Given the description of an element on the screen output the (x, y) to click on. 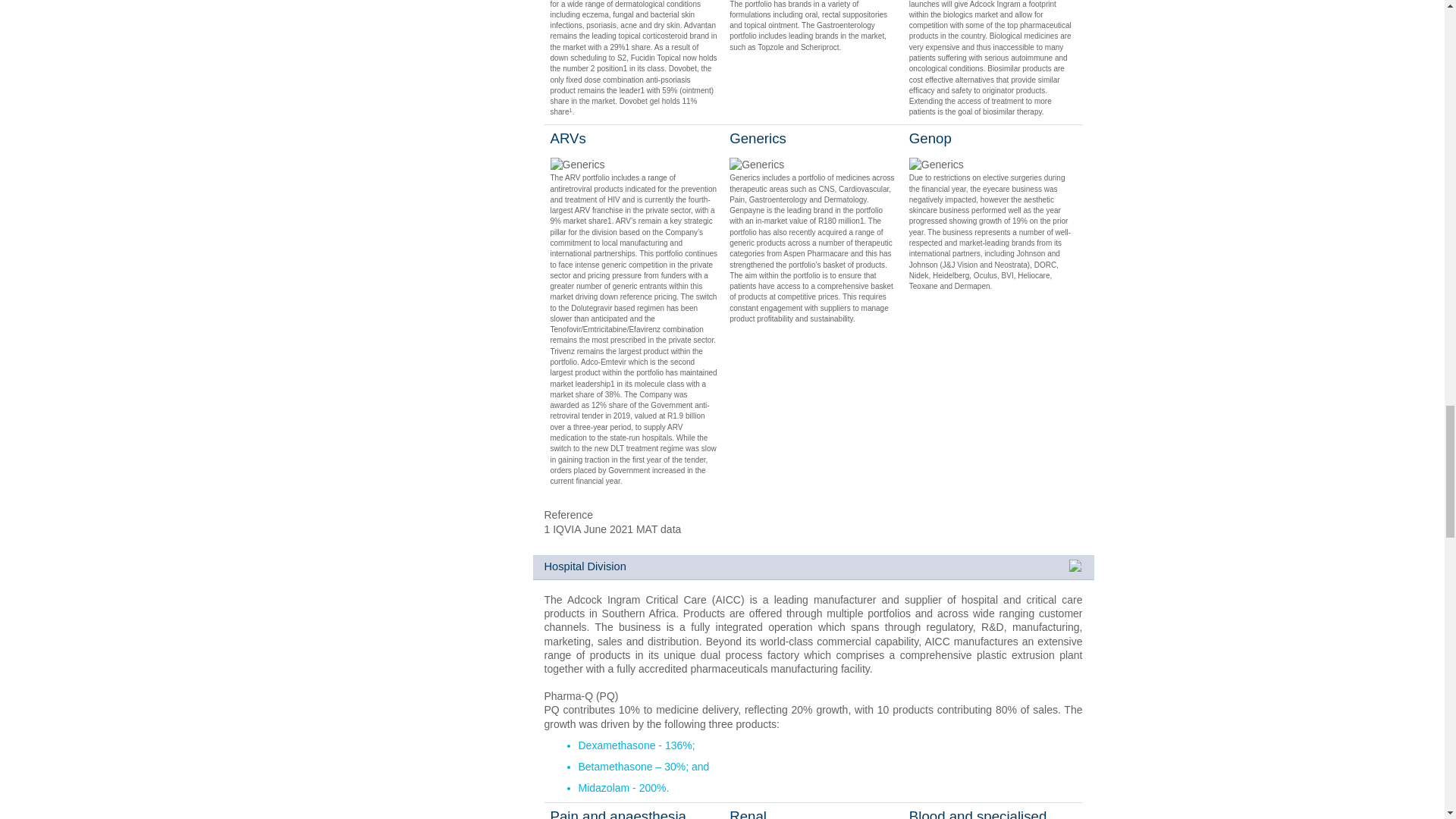
Hospital Division (812, 567)
